Given the description of an element on the screen output the (x, y) to click on. 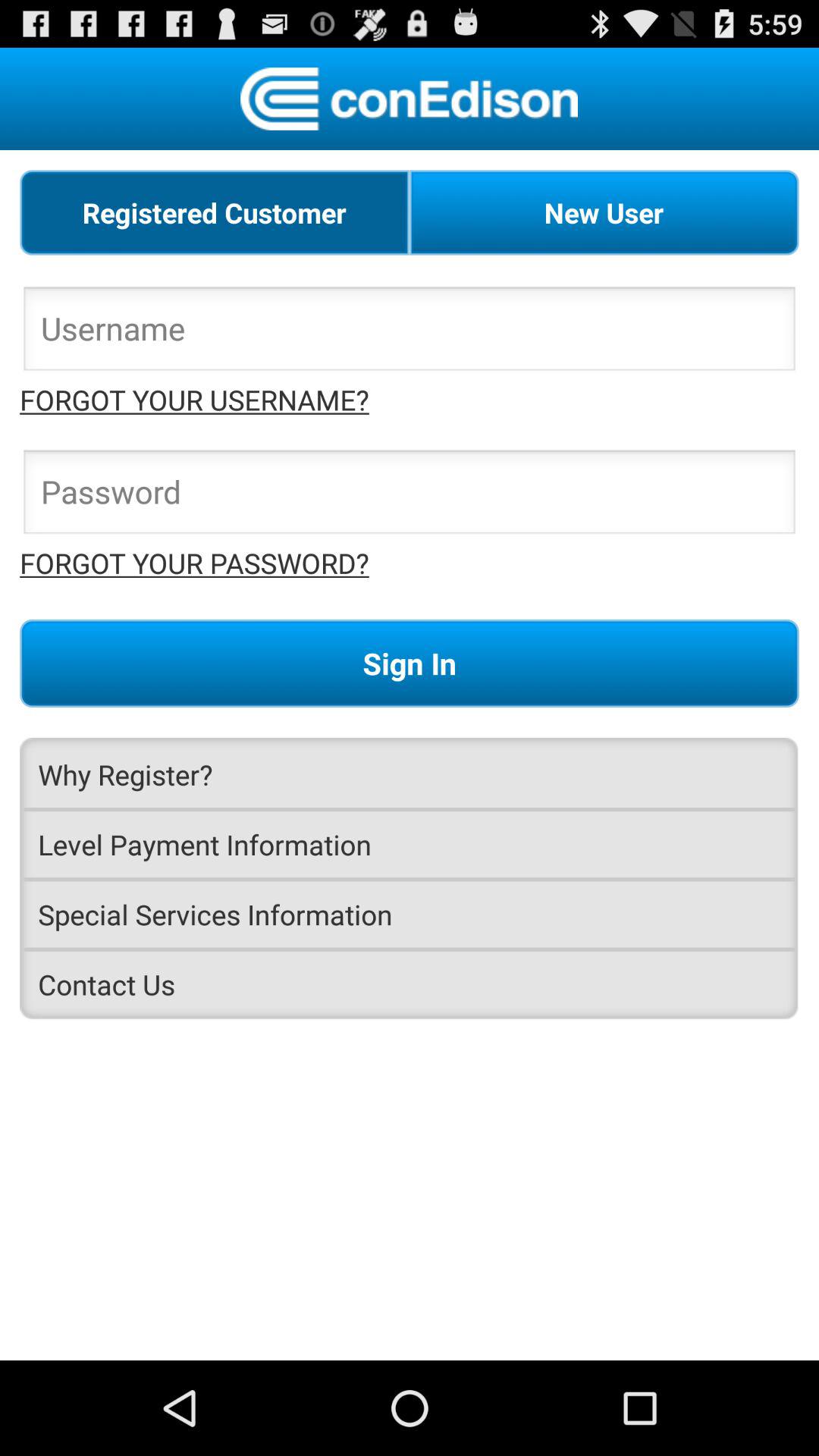
turn on the radio button next to the registered customer item (604, 212)
